Given the description of an element on the screen output the (x, y) to click on. 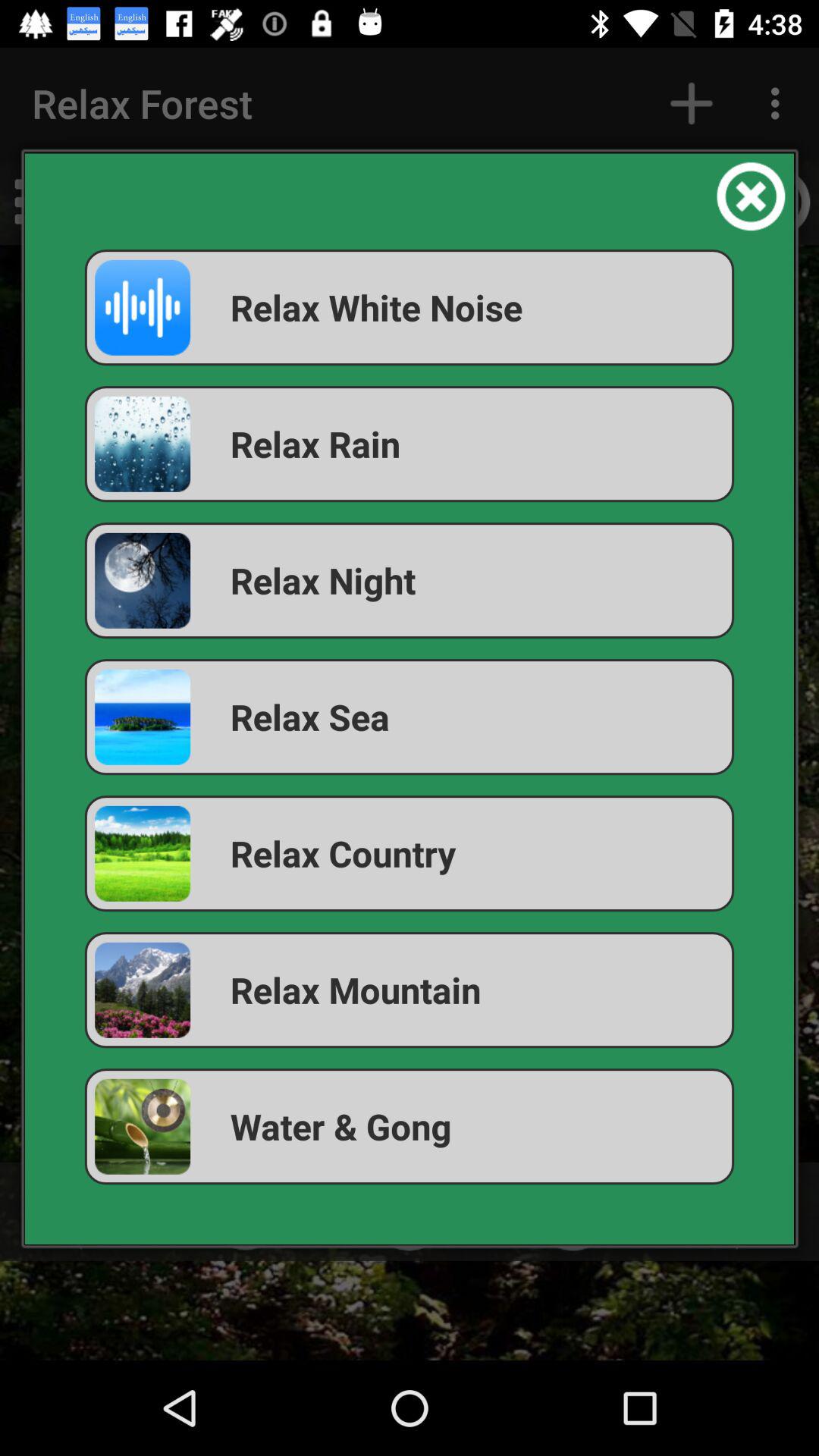
swipe to the relax sea (409, 717)
